Given the description of an element on the screen output the (x, y) to click on. 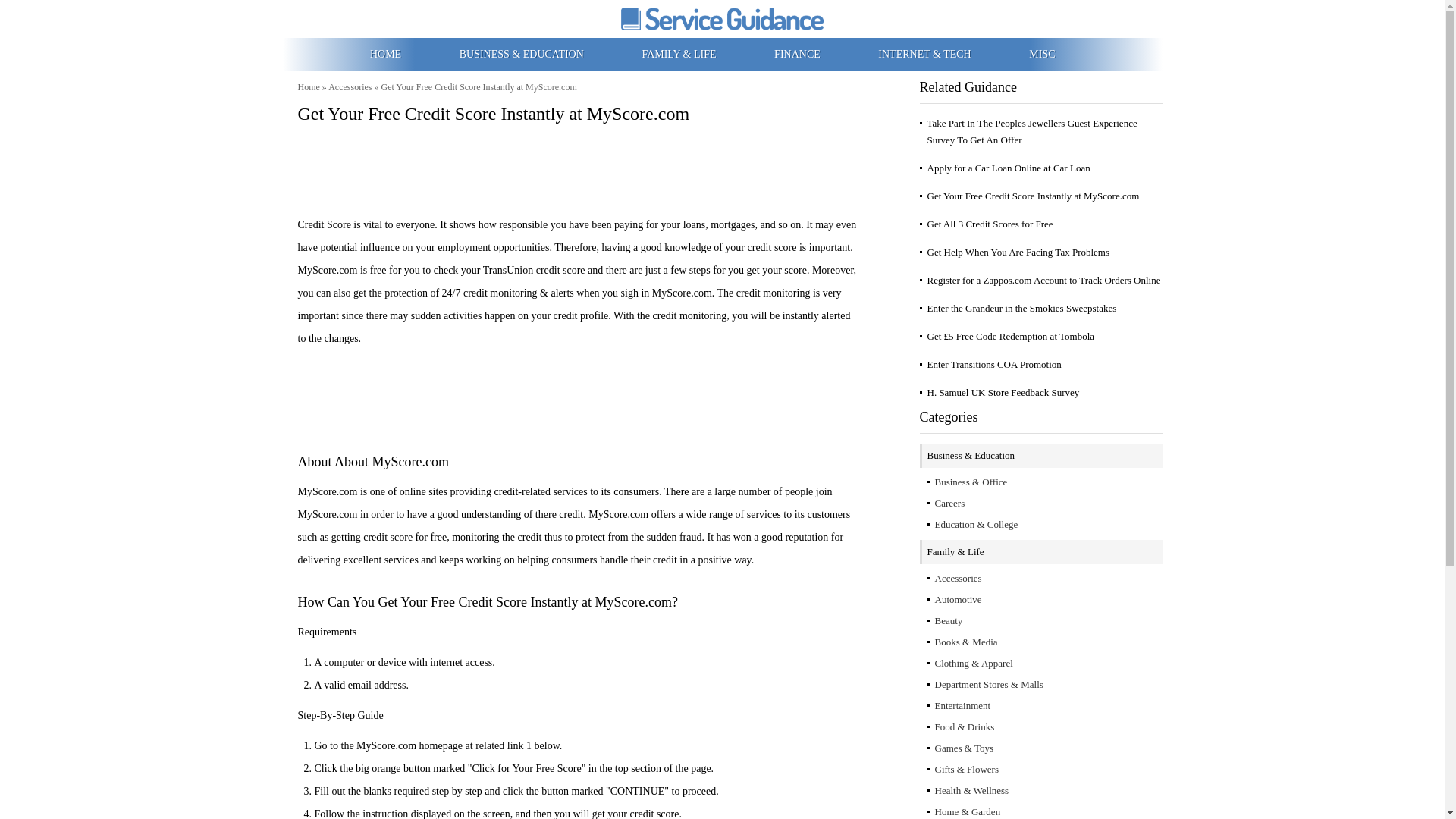
Beauty (948, 620)
Register for a Zappos.com Account to Track Orders Online (1043, 279)
Entertainment (962, 705)
Get Help When You Are Facing Tax Problems (1017, 251)
Enter the Grandeur in the Smokies Sweepstakes (1021, 307)
HOME (386, 53)
Advertisement (578, 391)
Get All 3 Credit Scores for Free (989, 224)
Accessories (957, 577)
Enter Transitions COA Promotion (993, 364)
H. Samuel UK Store Feedback Survey (1002, 392)
Automotive (957, 599)
Home (307, 86)
FINANCE (798, 53)
